Given the description of an element on the screen output the (x, y) to click on. 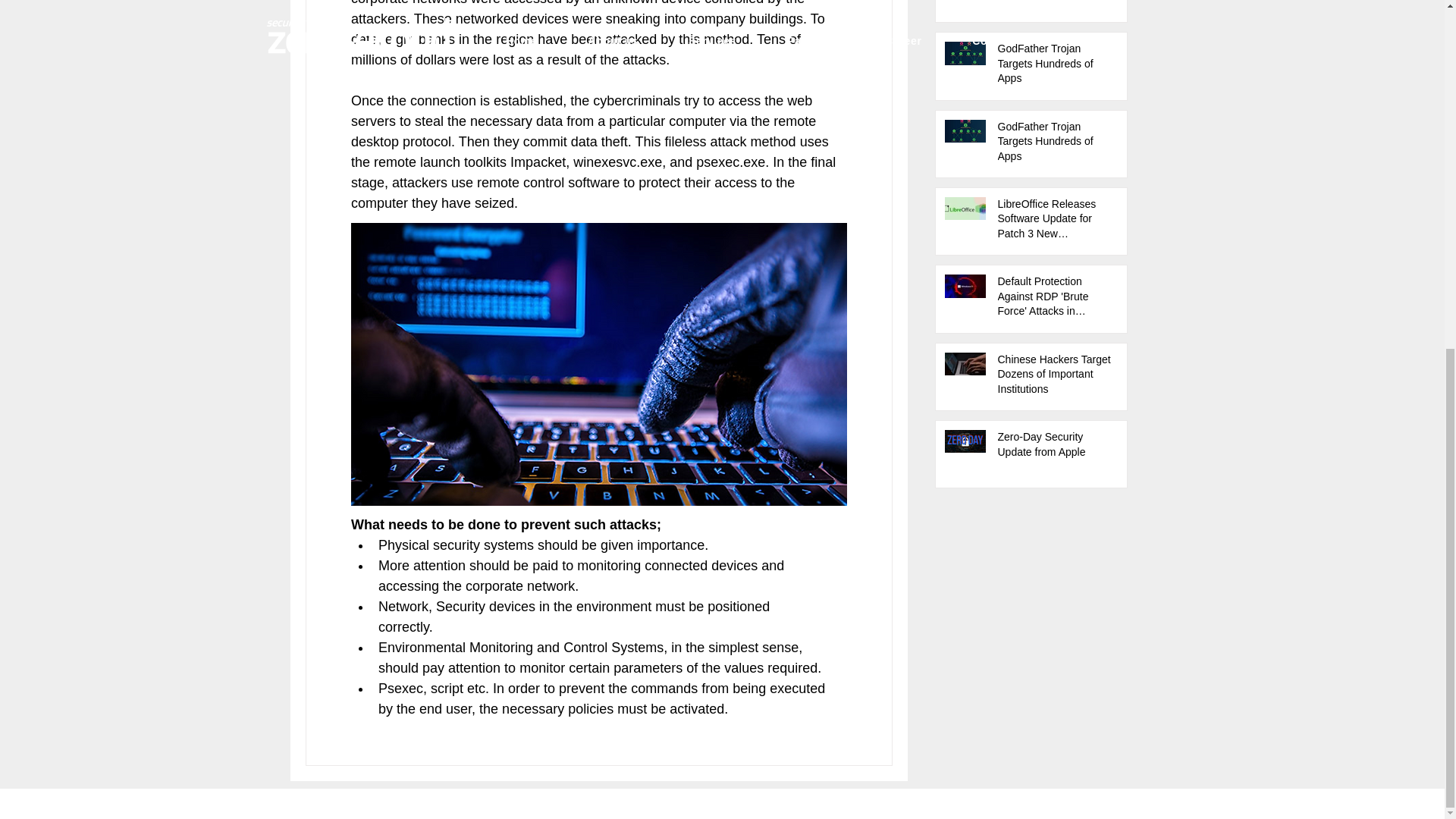
GodFather Trojan Targets Hundreds of Apps (1056, 143)
Zero-Day Security Update from Apple (1056, 447)
GodFather Trojan Targets Hundreds of Apps (1056, 66)
Chinese Hackers Target Dozens of Important Institutions (1056, 377)
